Given the description of an element on the screen output the (x, y) to click on. 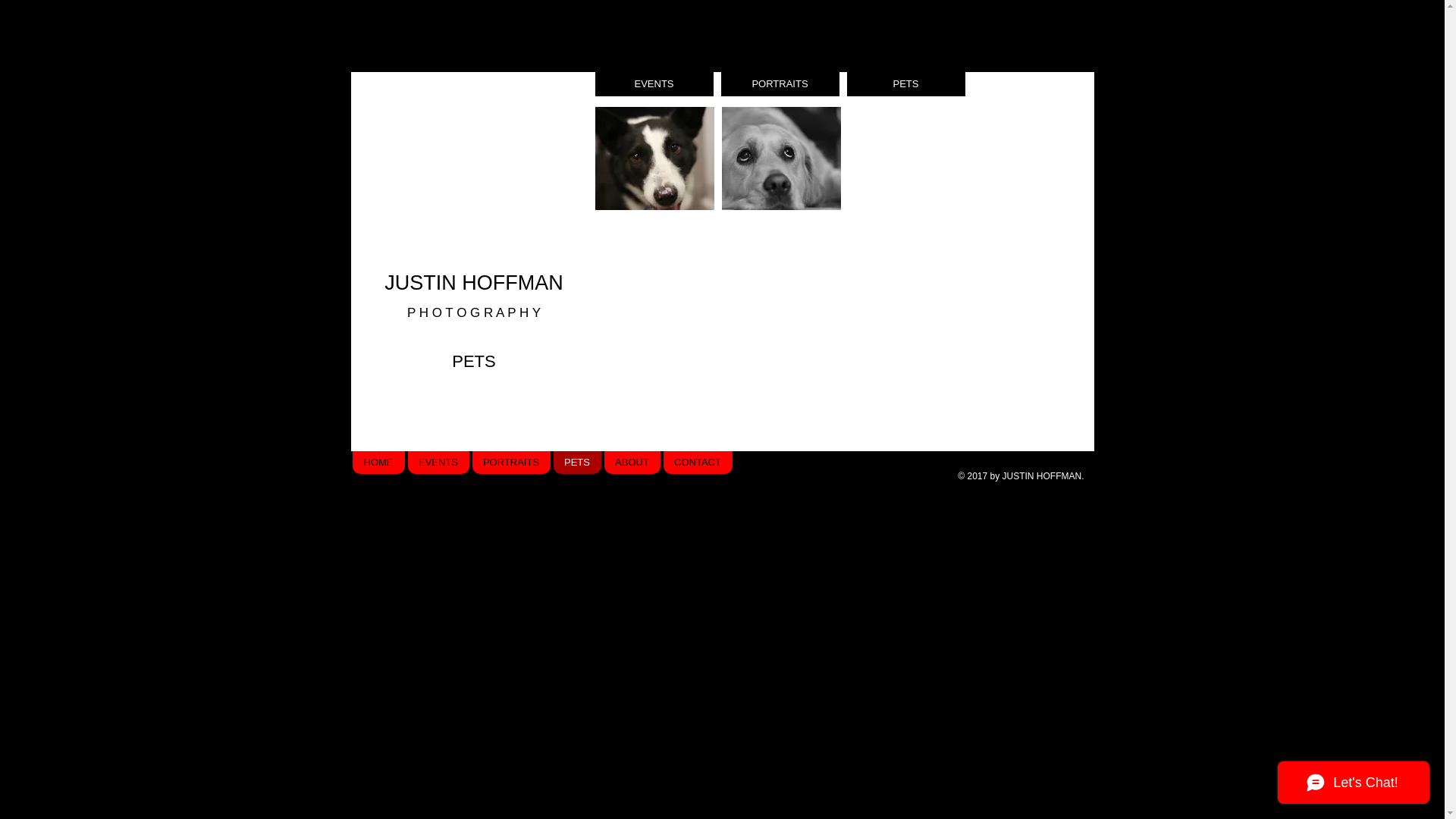
PORTRAITS Element type: text (510, 462)
ABOUT Element type: text (631, 462)
HOME Element type: text (377, 462)
PETS Element type: text (577, 462)
EVENTS Element type: text (438, 462)
EVENTS Element type: text (653, 84)
PORTRAITS Element type: text (779, 84)
CONTACT Element type: text (696, 462)
PETS Element type: text (905, 84)
